Given the description of an element on the screen output the (x, y) to click on. 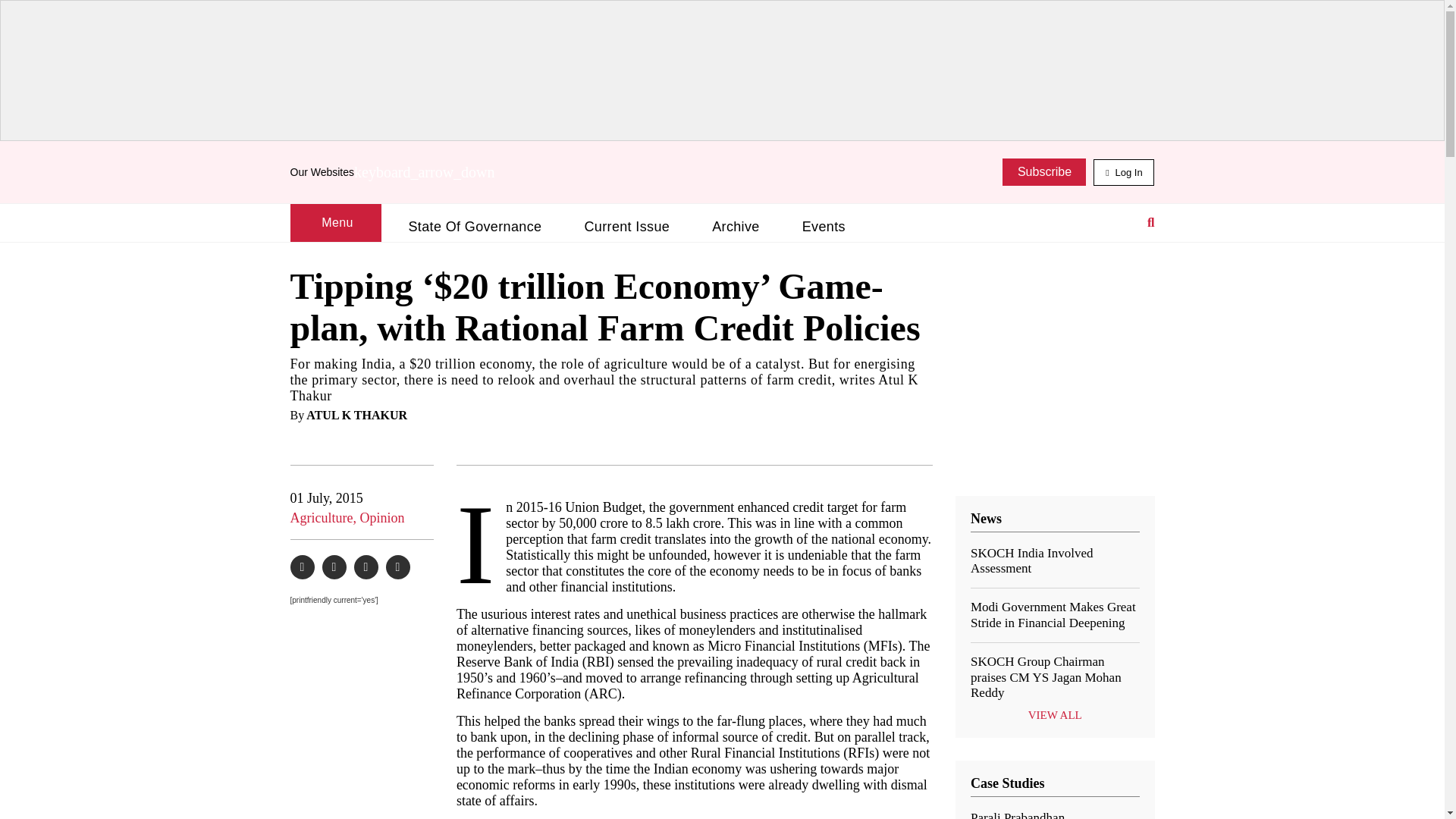
Events (823, 226)
Log In (1123, 171)
State Of Governance (474, 226)
Subscribe (1044, 171)
Archive (735, 226)
Current Issue (626, 226)
